Given the description of an element on the screen output the (x, y) to click on. 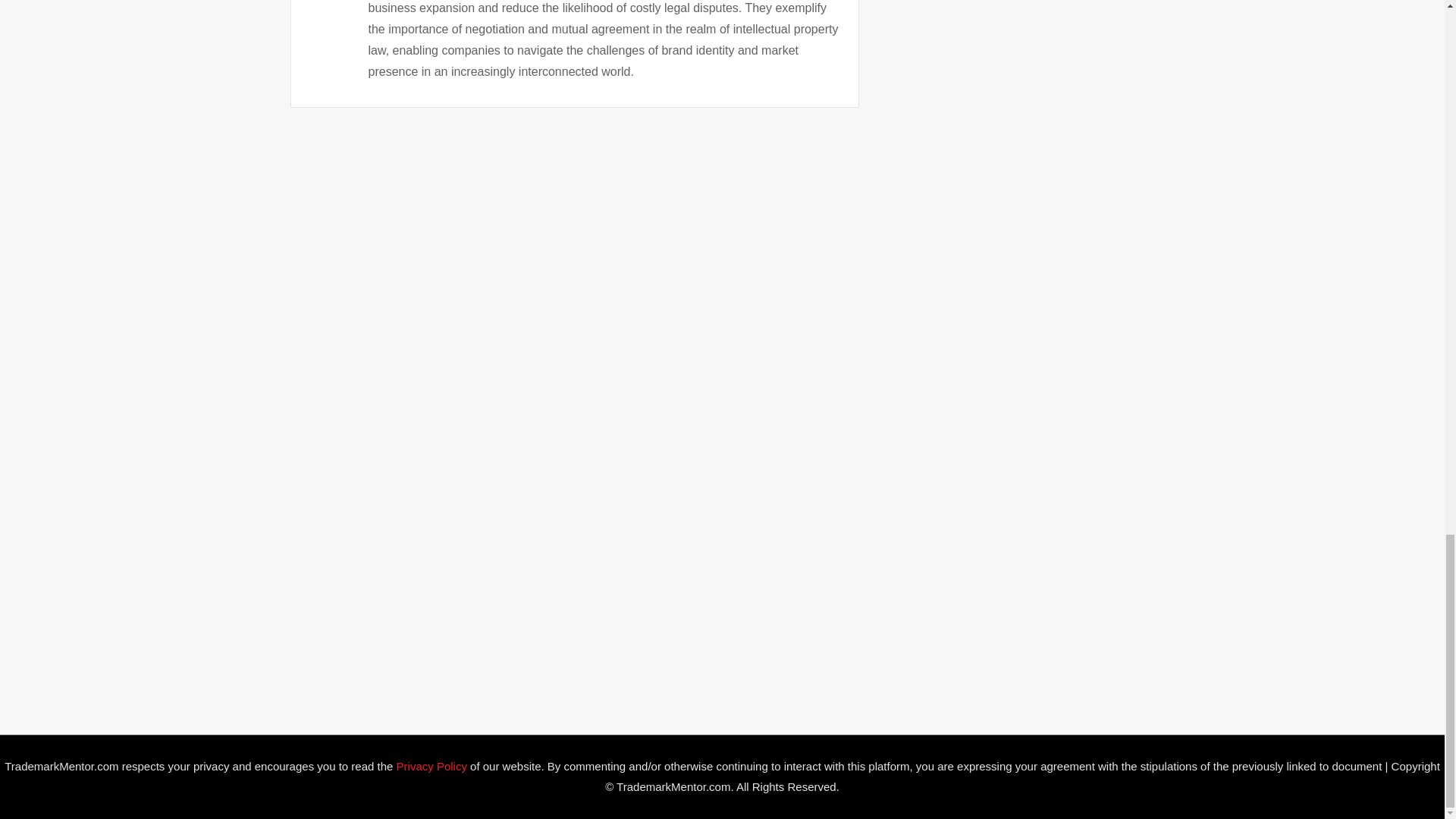
Privacy Policy (431, 766)
Submit (363, 620)
